Given the description of an element on the screen output the (x, y) to click on. 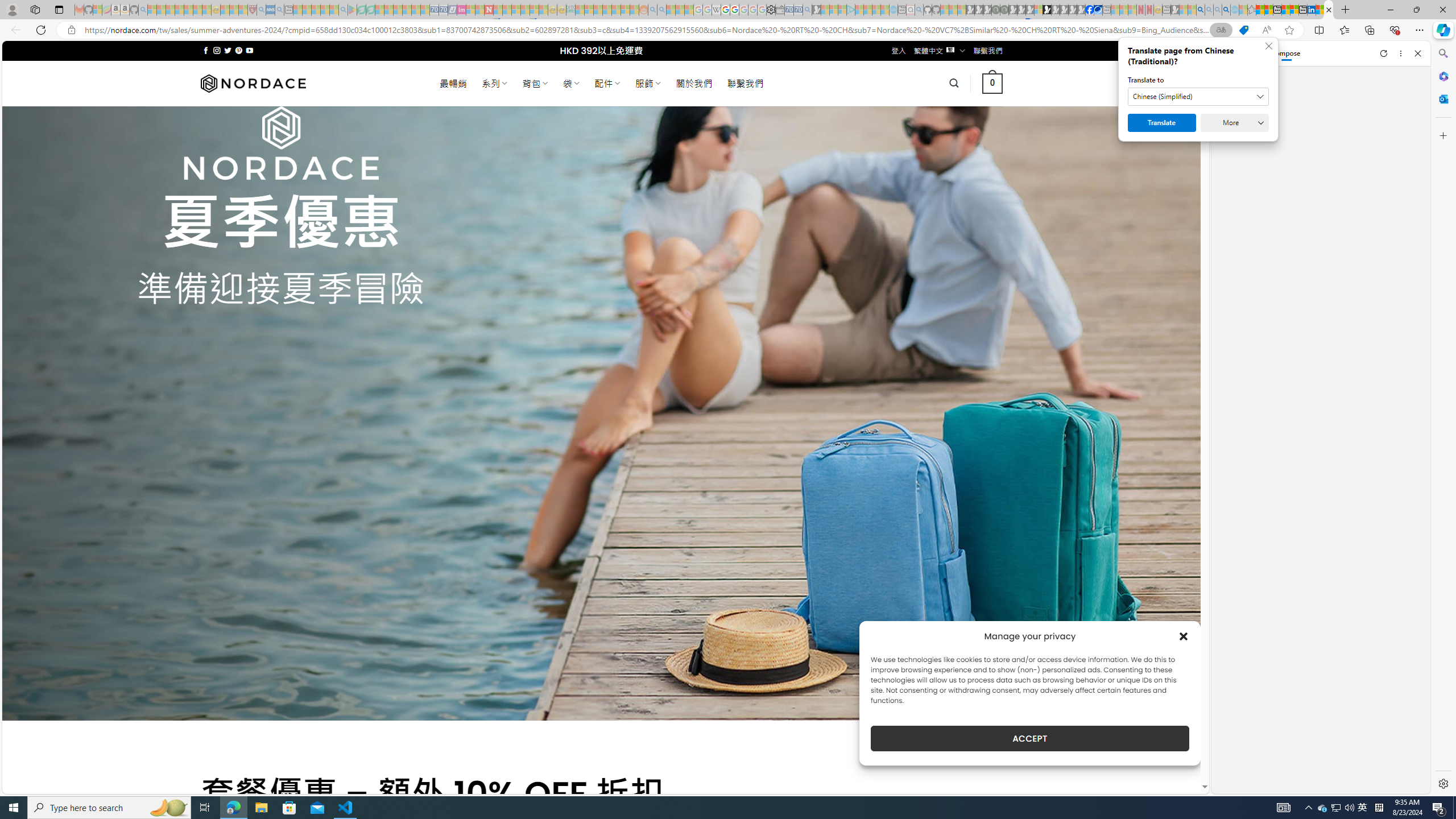
This site has coupons! Shopping in Microsoft Edge (1243, 29)
Bing Real Estate - Home sales and rental listings - Sleeping (806, 9)
Translate (1161, 122)
AQI & Health | AirNow.gov (1098, 9)
